Given the description of an element on the screen output the (x, y) to click on. 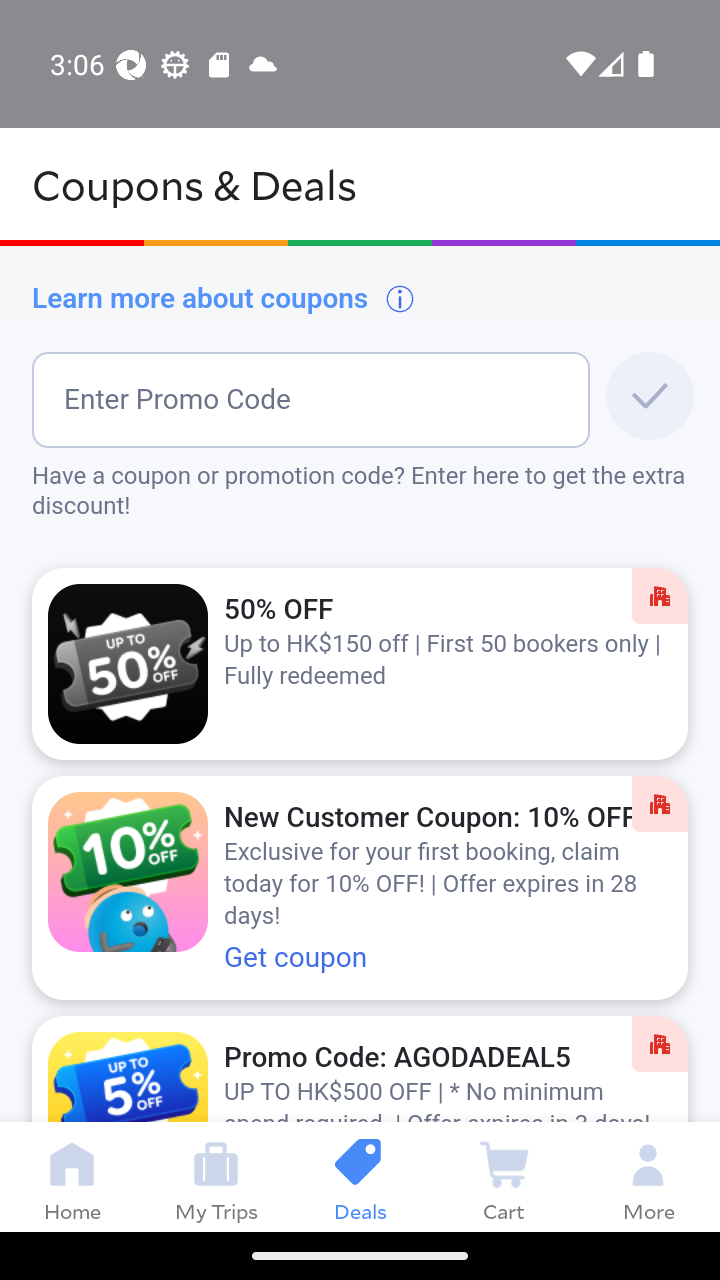
Learn more about coupons (224, 298)
Home (72, 1176)
My Trips (216, 1176)
Deals (360, 1176)
Cart (504, 1176)
More (648, 1176)
